Given the description of an element on the screen output the (x, y) to click on. 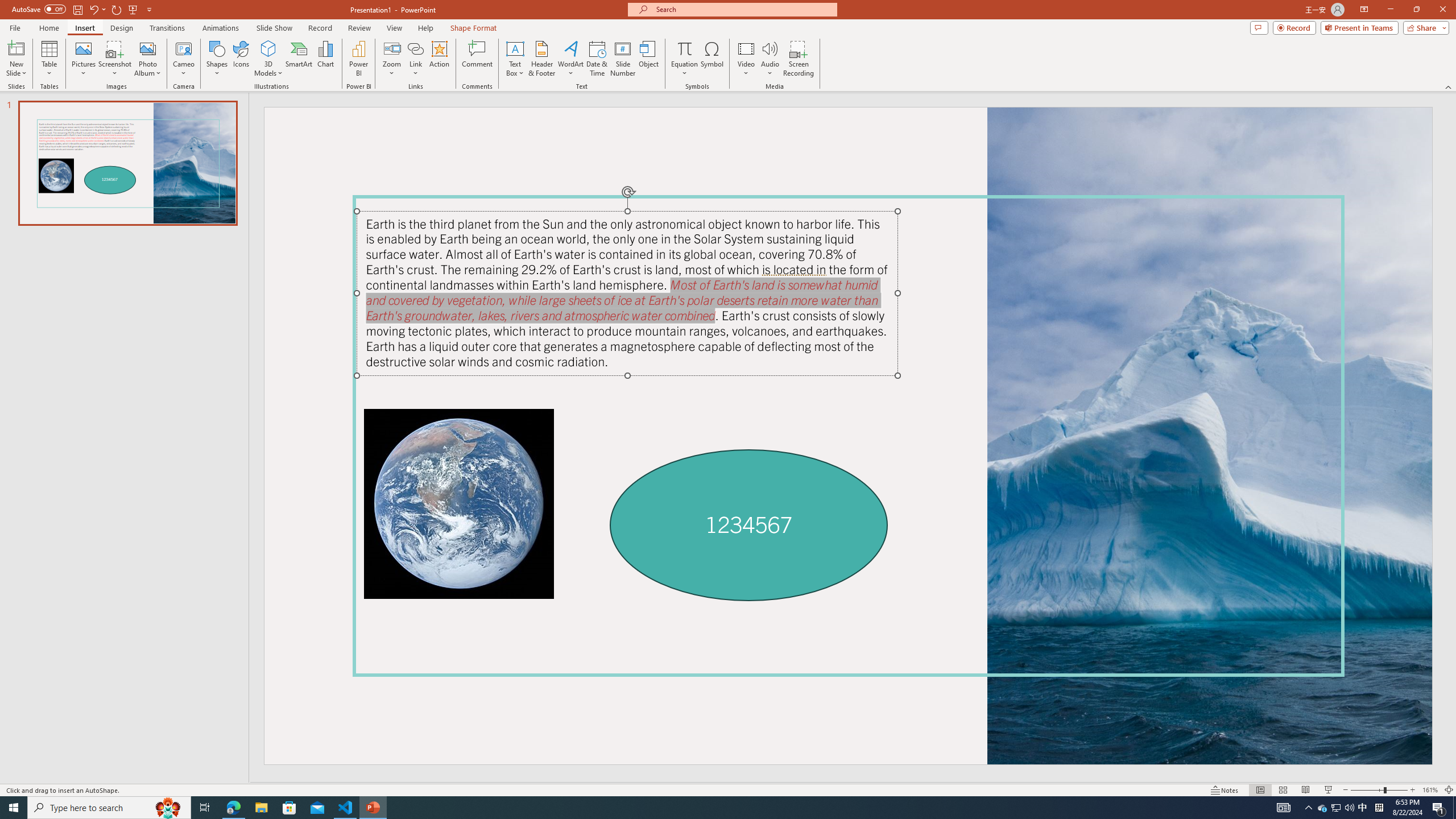
Action (439, 58)
Table (49, 58)
Comment (476, 58)
New Photo Album... (147, 48)
